Given the description of an element on the screen output the (x, y) to click on. 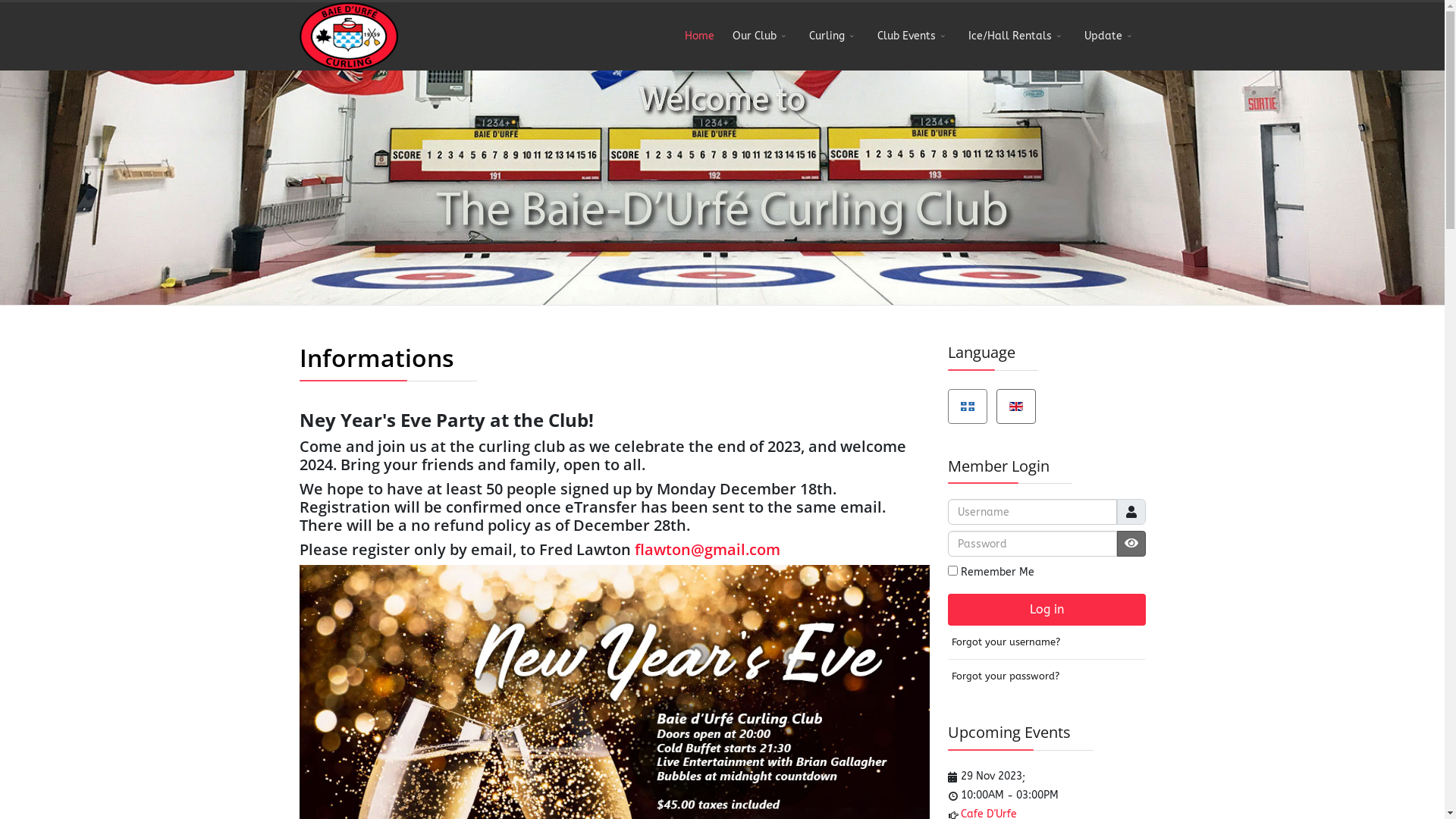
Forgot your password? Element type: text (1046, 676)
Home Element type: text (698, 36)
flawton@gmail.com Element type: text (706, 549)
Club Events Element type: text (912, 36)
Our Club Element type: text (761, 36)
JSHOWPASSWORD Element type: text (1130, 543)
Informations Element type: text (375, 357)
Curling Element type: text (833, 36)
Forgot your username? Element type: text (1046, 642)
Update Element type: text (1110, 36)
Log in Element type: text (1046, 609)
Ice/Hall Rentals Element type: text (1016, 36)
Username Element type: hover (1130, 511)
English Element type: hover (1015, 406)
